Given the description of an element on the screen output the (x, y) to click on. 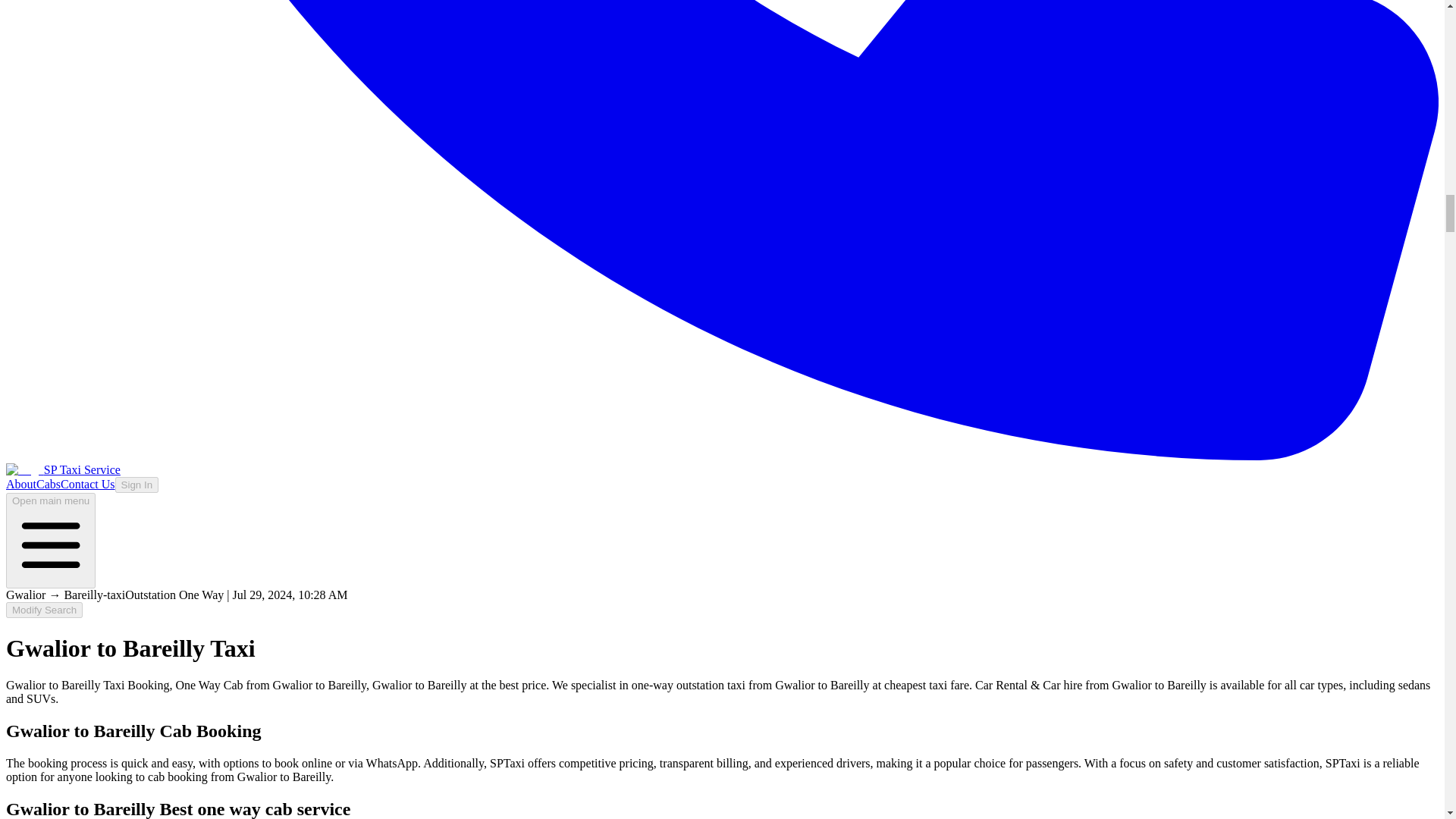
Modify Search (43, 609)
Sign In (136, 484)
Contact Us (88, 483)
Cabs (48, 483)
Open main menu (50, 540)
About (20, 483)
